Given the description of an element on the screen output the (x, y) to click on. 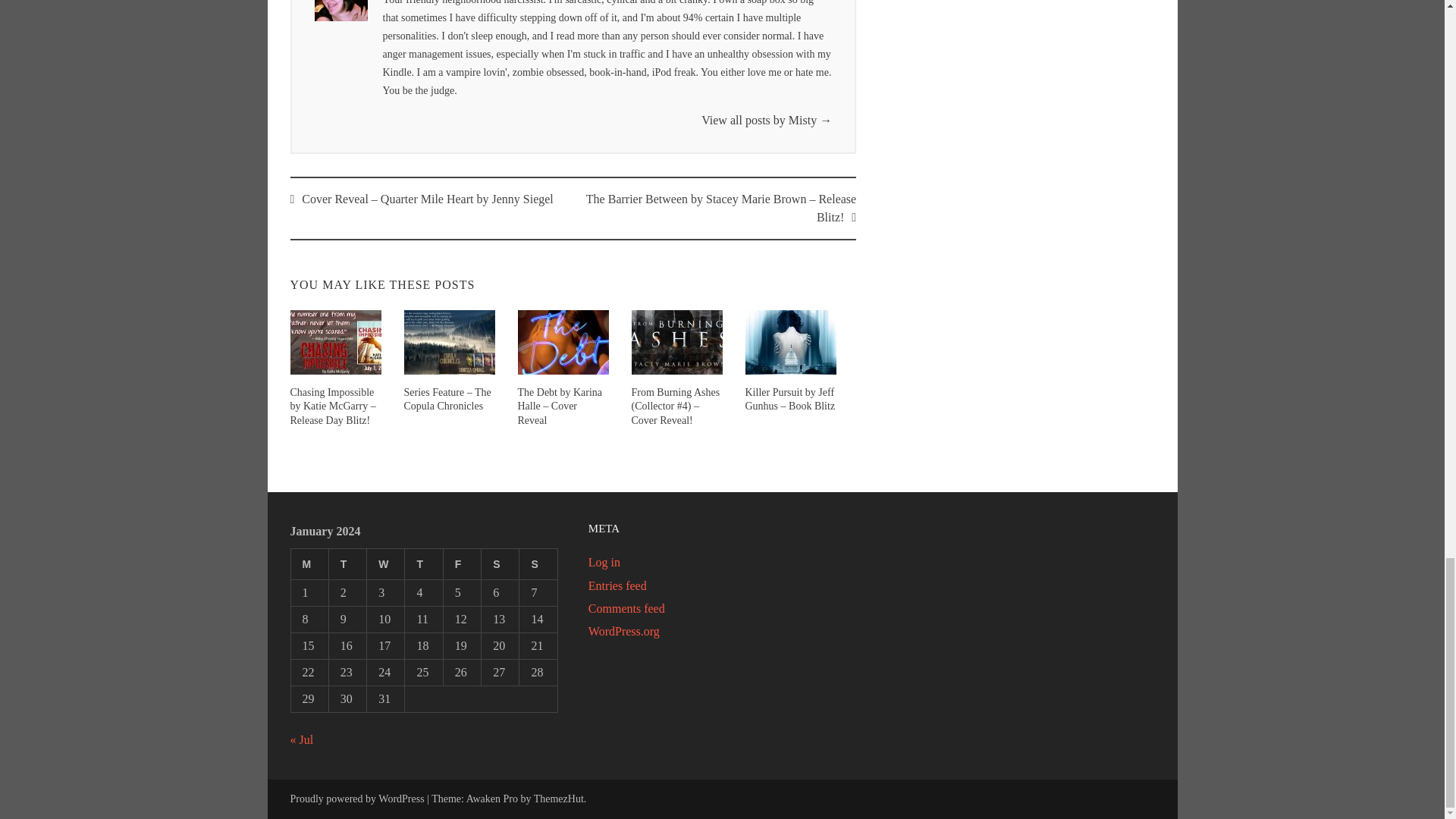
Tuesday (347, 563)
Monday (309, 563)
Sunday (538, 563)
Thursday (423, 563)
Wednesday (385, 563)
Saturday (500, 563)
Friday (461, 563)
